Given the description of an element on the screen output the (x, y) to click on. 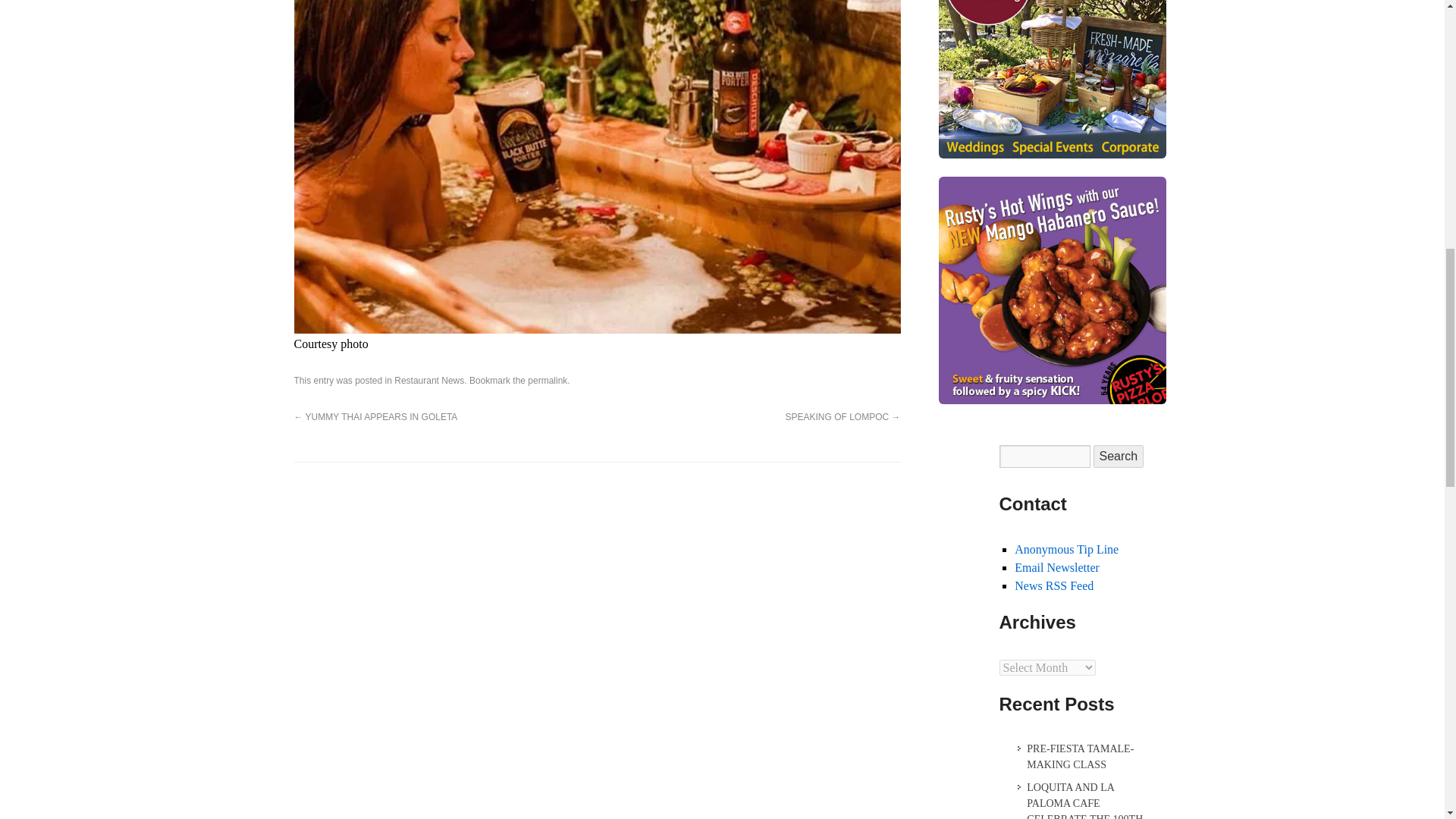
Search (1118, 456)
PRE-FIESTA TAMALE-MAKING CLASS (1082, 757)
Restaurant News (429, 380)
Search (1118, 456)
permalink (547, 380)
LOQUITA AND LA PALOMA CAFE CELEBRATE THE 100TH FIESTA (1082, 799)
Anonymous Tip Line (1066, 549)
Permalink to NEW BEER SPA COMING (547, 380)
Email Newsletter (1056, 567)
News RSS Feed (1053, 585)
